Given the description of an element on the screen output the (x, y) to click on. 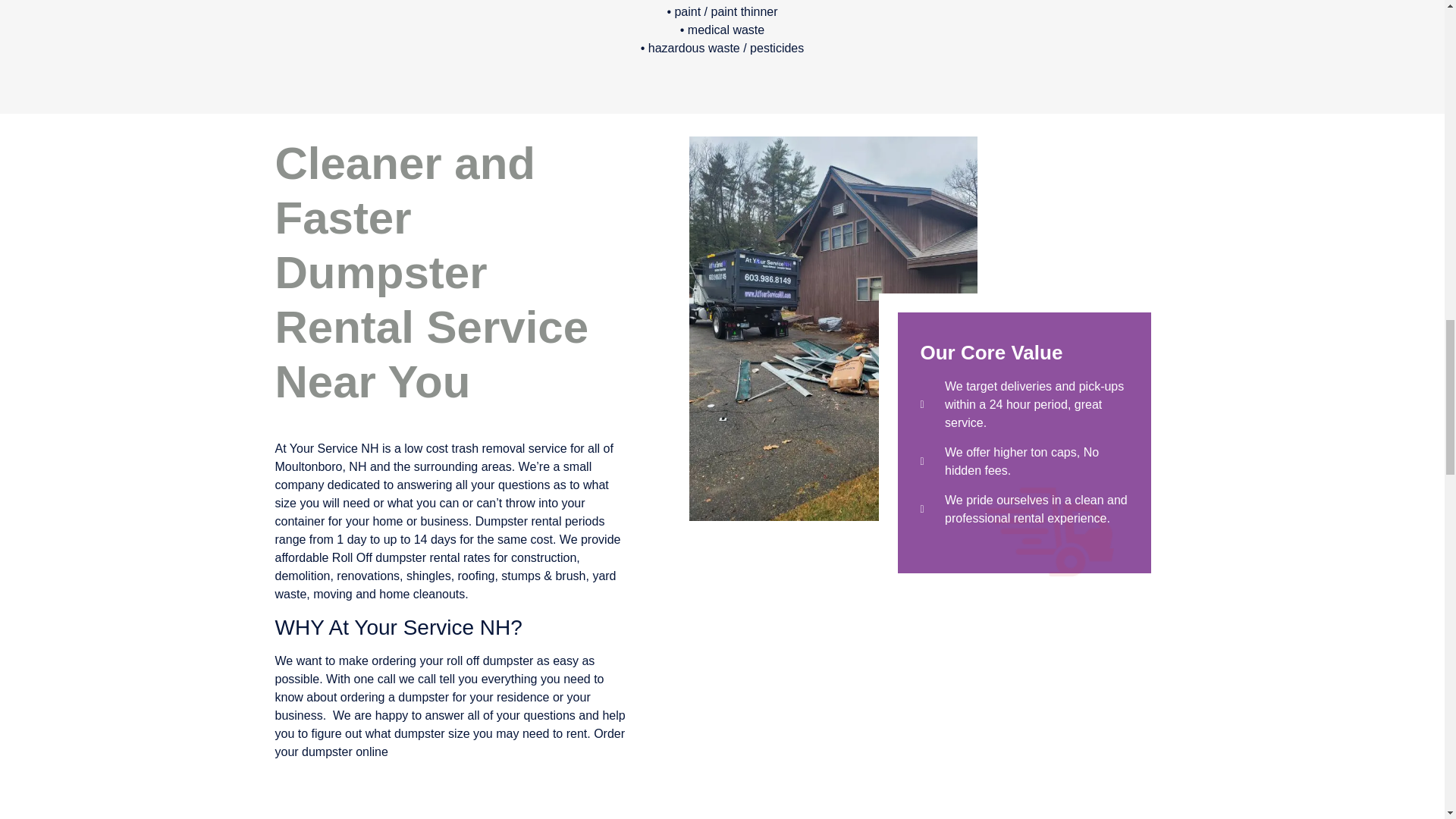
Order your dumpster online today! (449, 742)
Order your dumpster online (449, 742)
